Given the description of an element on the screen output the (x, y) to click on. 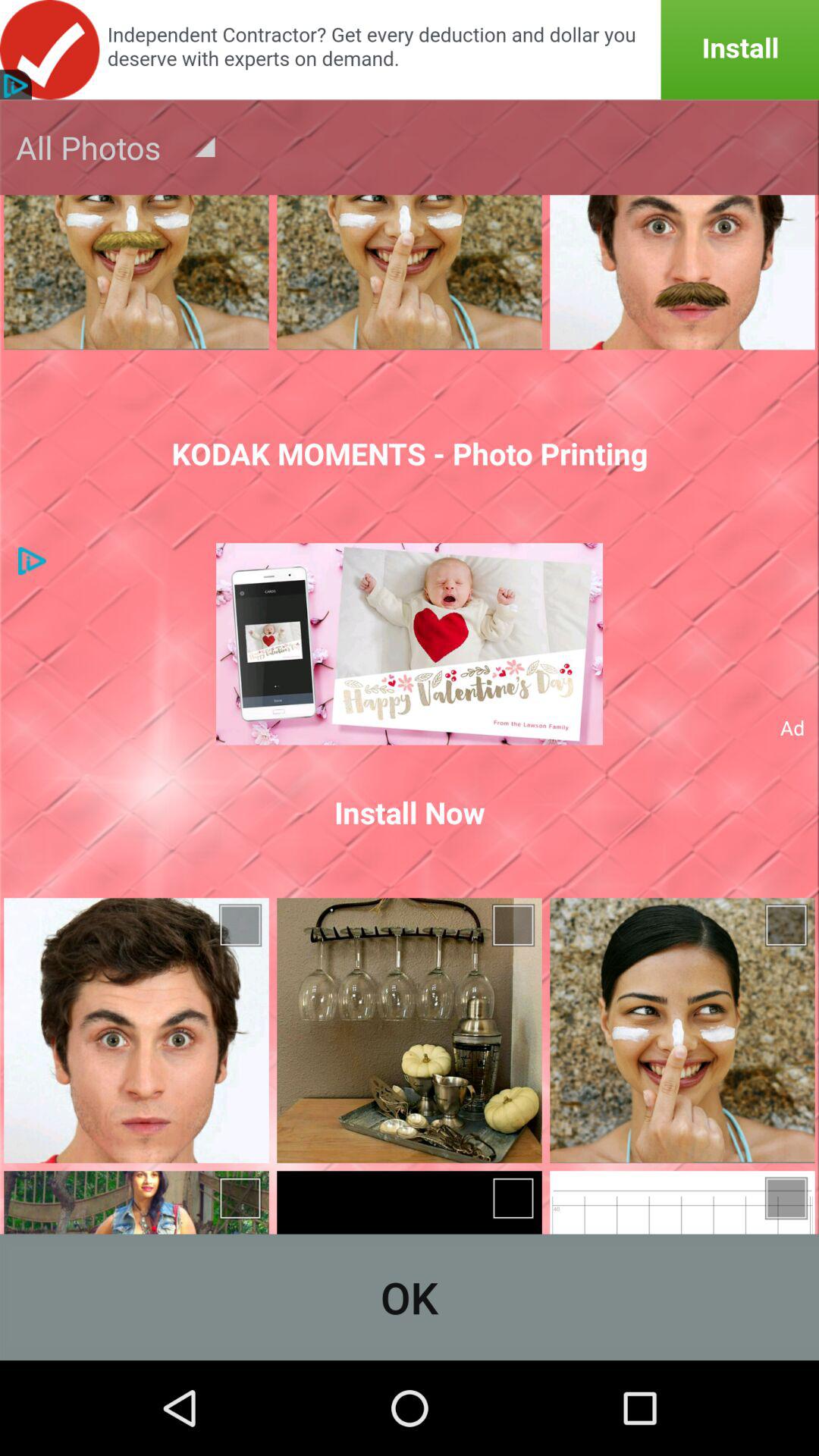
turn on the item above the all photos icon (409, 49)
